Given the description of an element on the screen output the (x, y) to click on. 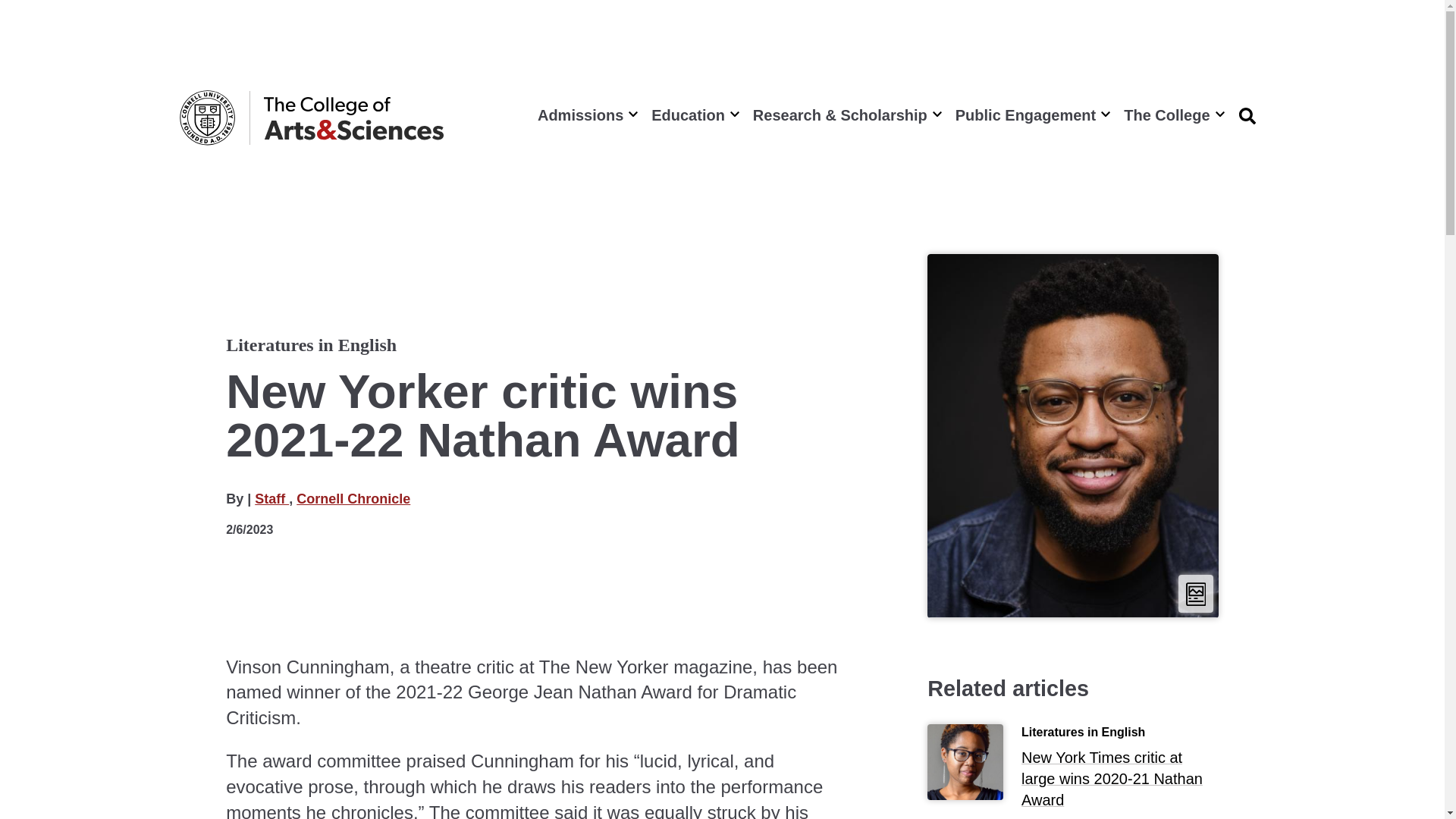
Admissions (585, 115)
The College (1171, 115)
New York Times critic at large wins 2020-21 Nathan Award (1120, 782)
Education (693, 115)
Public Engagement (1030, 115)
Cornell University (206, 117)
Cornell University (206, 117)
